Given the description of an element on the screen output the (x, y) to click on. 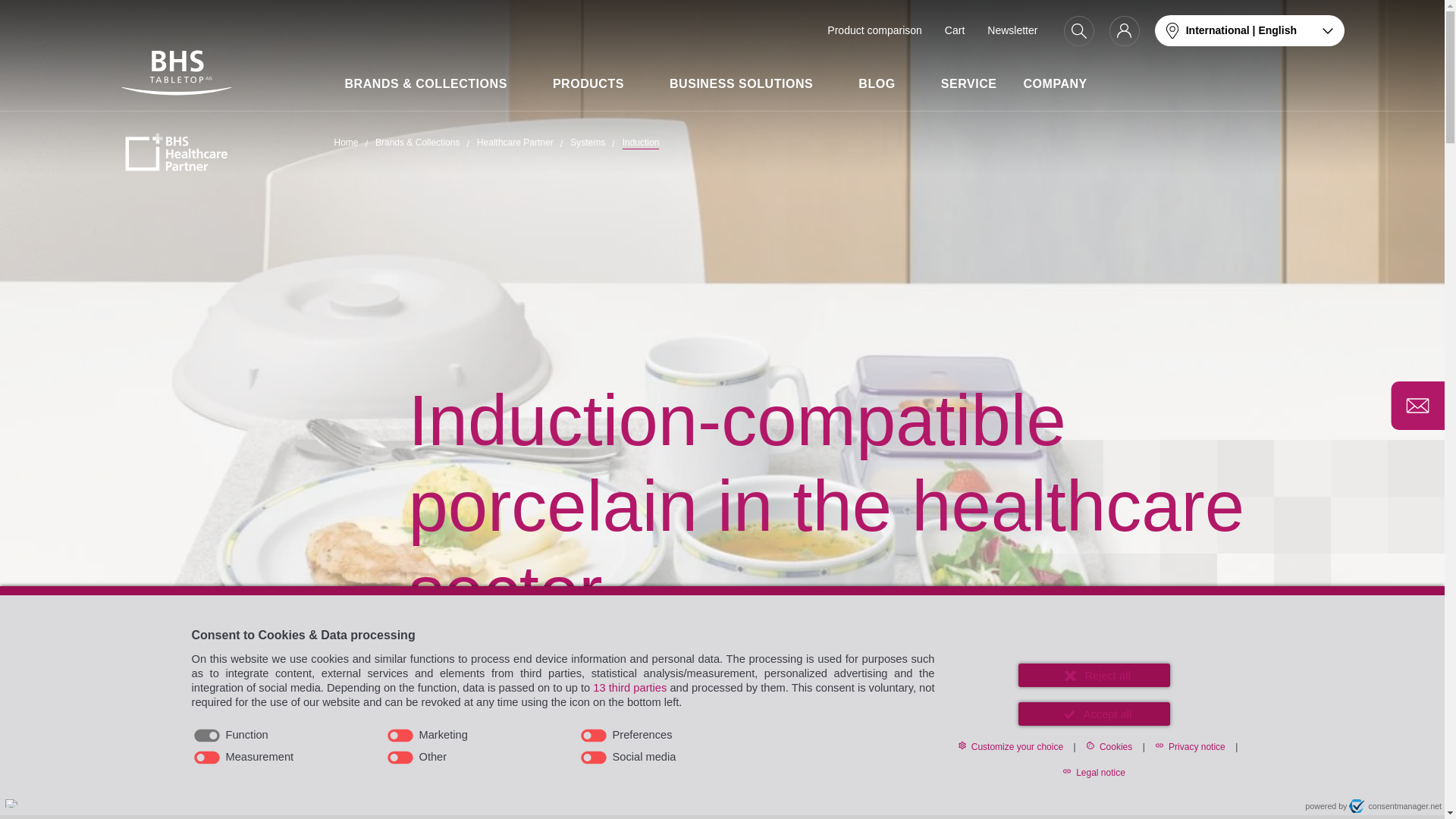
Purpose (562, 746)
Cookies (1109, 746)
Legal notice (1093, 771)
consentmanager.net (1395, 806)
Product comparison (874, 30)
Privacy notice (1190, 746)
Cart (954, 30)
Accept all (1093, 713)
Reject all (1093, 675)
Language: en (11, 803)
Customize your choice (1010, 746)
Language: en (11, 803)
13 third parties (629, 687)
Newsletter (1011, 30)
